Given the description of an element on the screen output the (x, y) to click on. 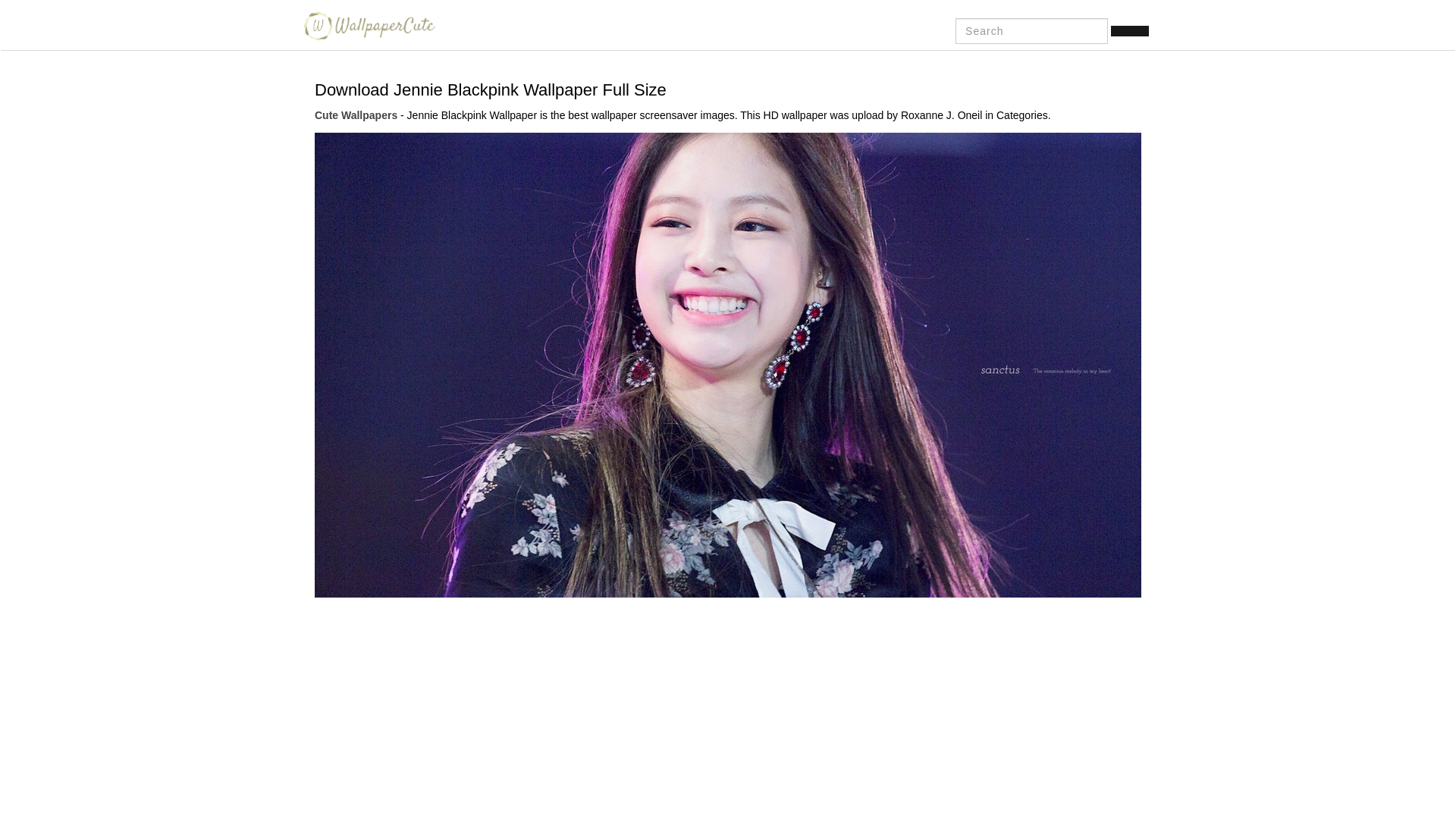
Cute Wallpapers (365, 26)
Jennie Blackpink Wallpaper (727, 363)
Cute Wallpapers (355, 114)
Search for: (1031, 31)
